Given the description of an element on the screen output the (x, y) to click on. 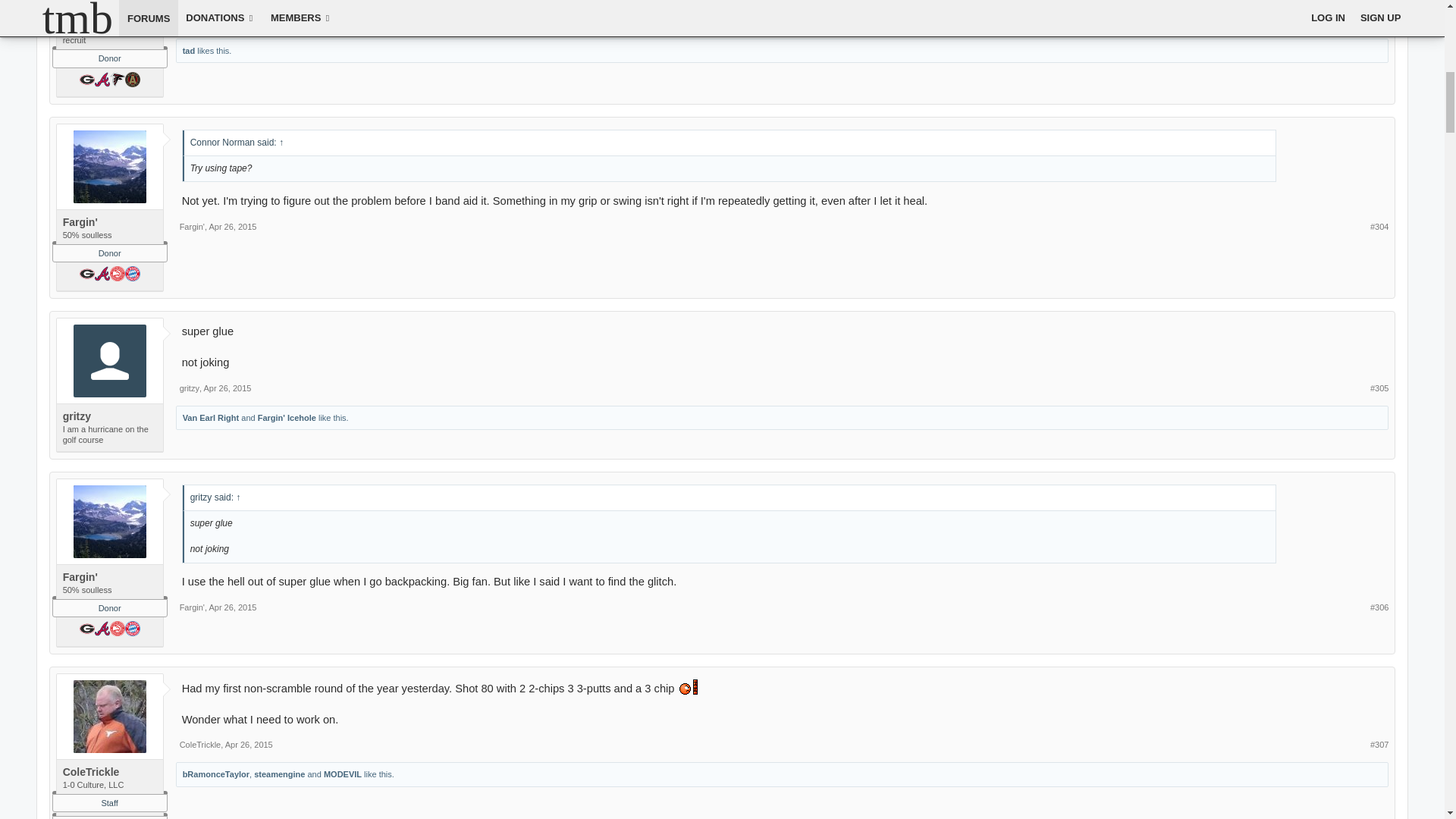
Permalink (266, 20)
Permalink (1379, 20)
